Given the description of an element on the screen output the (x, y) to click on. 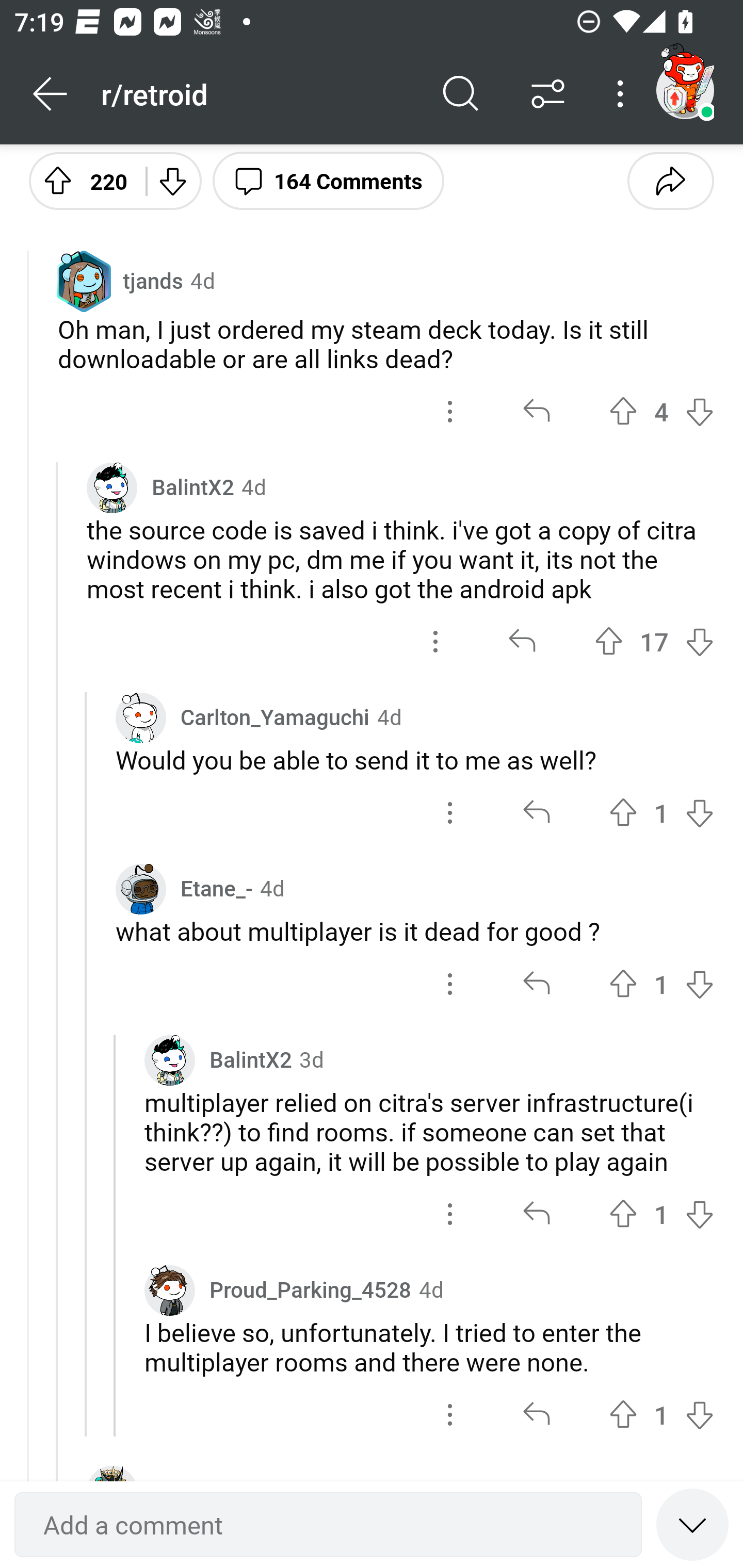
Back (50, 93)
TestAppium002 account (685, 90)
Search comments (460, 93)
Sort comments (547, 93)
More options (623, 93)
r/retroid (259, 92)
Upvote 220 (79, 180)
Downvote (171, 180)
164 Comments (328, 180)
Share (670, 180)
options (449, 411)
Upvote 4 4 votes Downvote (661, 411)
Custom avatar (111, 487)
options (435, 641)
Upvote 17 17 votes Downvote (654, 641)
Custom avatar (140, 718)
Would you be able to send it to me as well? (414, 759)
options (449, 812)
Upvote 1 1 vote Downvote (661, 812)
Custom avatar (140, 888)
what about multiplayer is it dead for good ? (414, 931)
options (449, 984)
Upvote 1 1 vote Downvote (661, 984)
Custom avatar (169, 1059)
options (449, 1213)
Upvote 1 1 vote Downvote (661, 1213)
Custom avatar (169, 1290)
options (449, 1414)
Upvote 1 1 vote Downvote (661, 1414)
Speed read (692, 1524)
Add a comment (327, 1524)
